Given the description of an element on the screen output the (x, y) to click on. 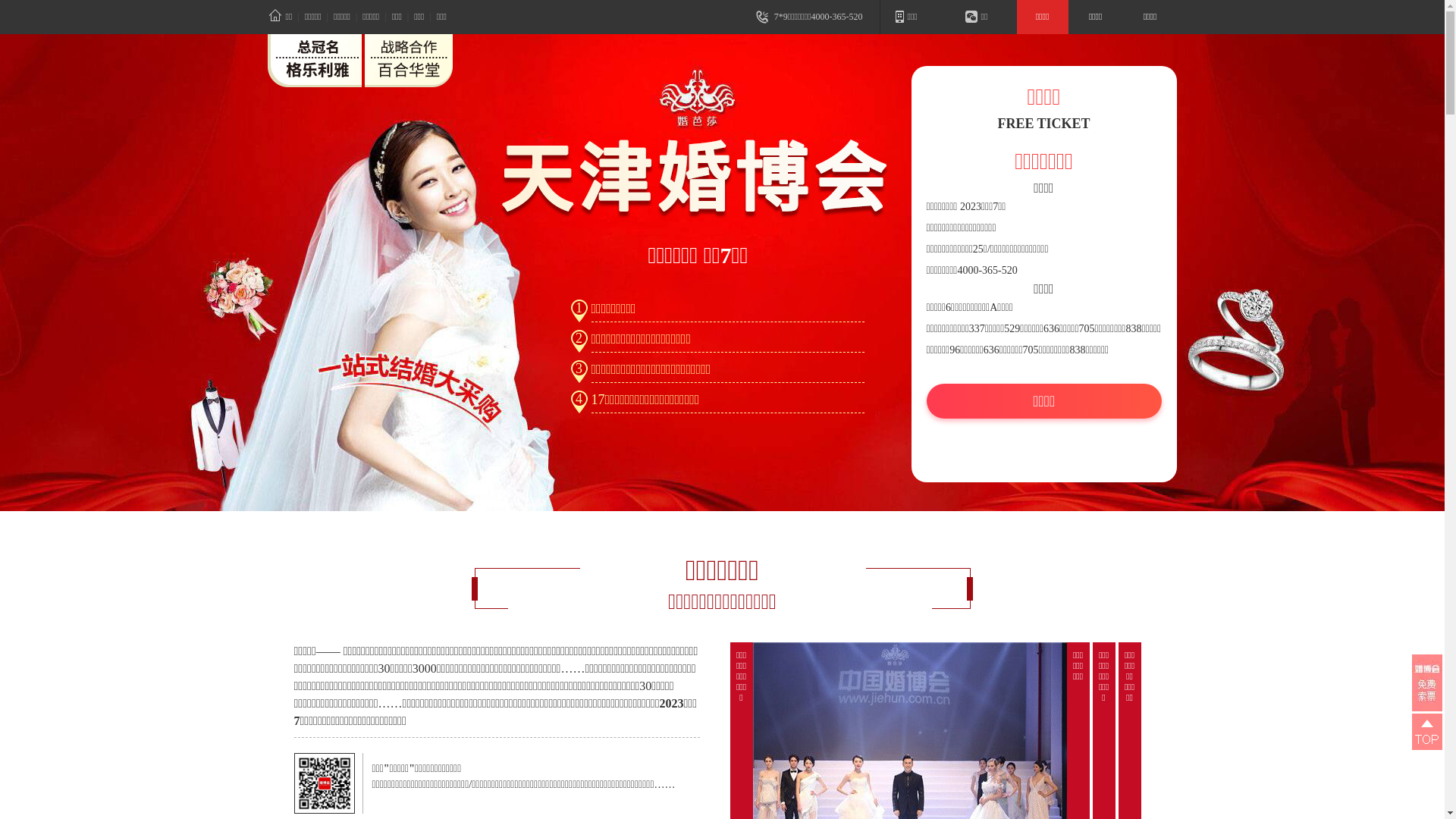
TOP Element type: text (1427, 731)
